Given the description of an element on the screen output the (x, y) to click on. 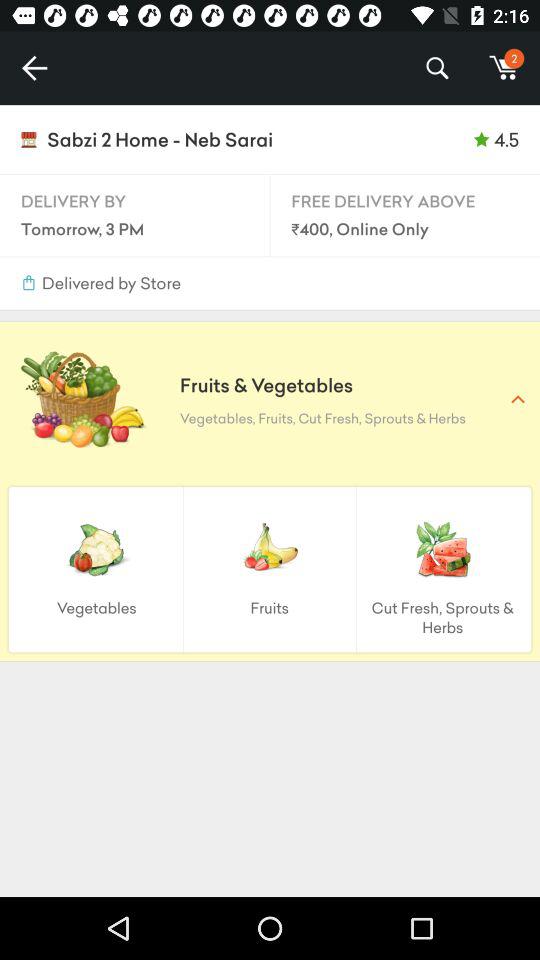
click on arrow button next to fruits  vegetables (517, 399)
